Given the description of an element on the screen output the (x, y) to click on. 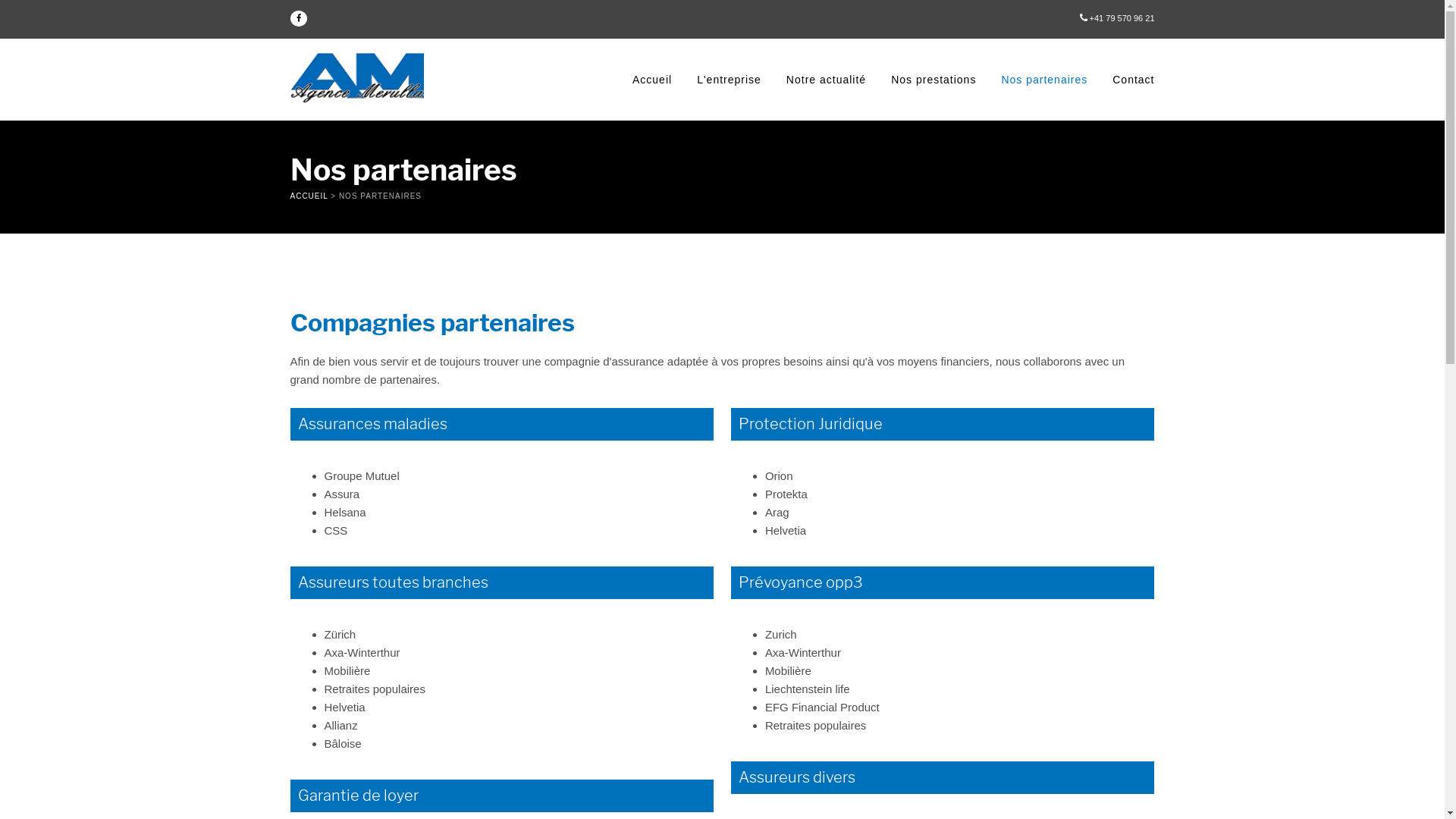
Accueil Element type: text (651, 79)
Design05 Element type: hover (356, 76)
ACCUEIL Element type: text (308, 195)
Nos prestations Element type: text (933, 79)
L'entreprise Element type: text (728, 79)
Nos partenaires Element type: text (1044, 79)
Contact Element type: text (1127, 79)
